Given the description of an element on the screen output the (x, y) to click on. 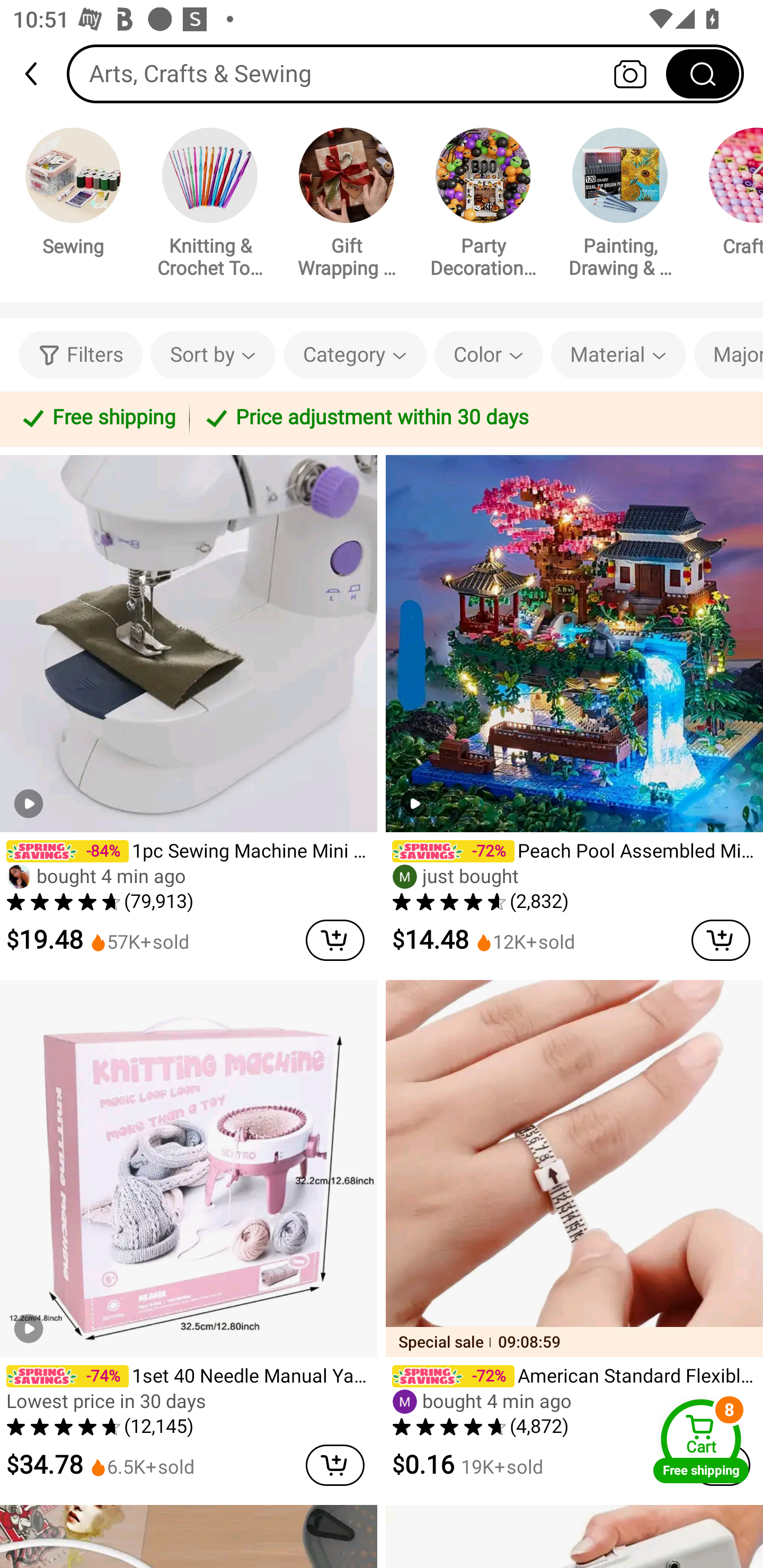
back (39, 73)
Arts, Crafts & Sewing (405, 73)
Sewing (73, 195)
Knitting & Crochet Tools (209, 205)
Gift Wrapping Supplies (346, 205)
Party Decorations & Supplies (483, 205)
Painting, Drawing & Art Supplies (619, 205)
Crafting (728, 195)
Filters (80, 354)
Sort by (212, 354)
Category (354, 354)
Color (488, 354)
Material (617, 354)
Free shipping (97, 418)
Price adjustment within 30 days (472, 418)
cart delete (334, 939)
cart delete (720, 939)
Cart Free shipping Cart (701, 1440)
cart delete (334, 1465)
